Given the description of an element on the screen output the (x, y) to click on. 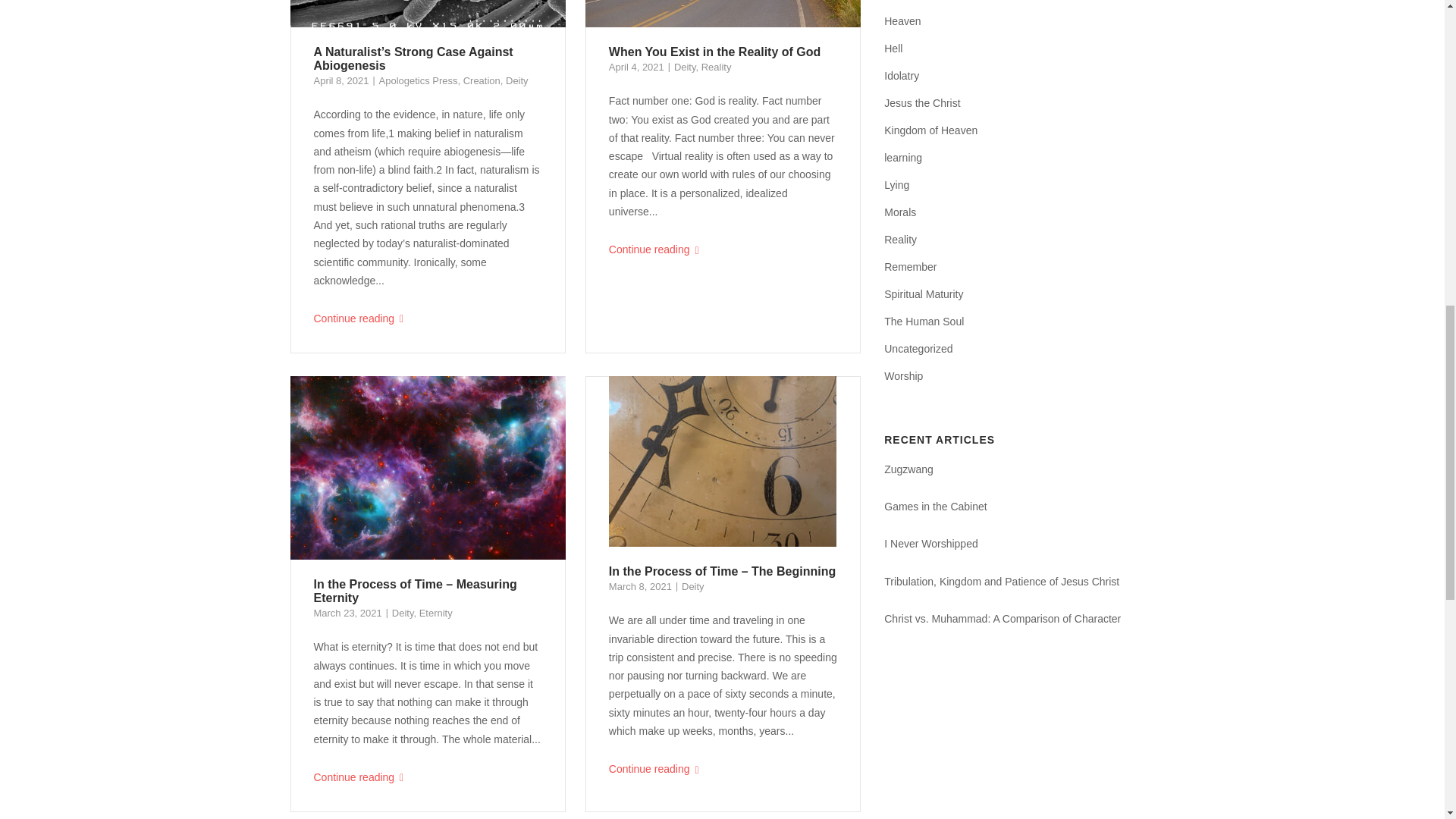
Reality (716, 66)
Creation (481, 80)
Continue reading (722, 249)
Deity (402, 613)
Deity (516, 80)
April 4, 2021 (635, 66)
April 8, 2021 (341, 80)
March 23, 2021 (347, 613)
Eternity (435, 613)
When You Exist in the Reality of God (714, 51)
Deity (684, 66)
Apologetics Press (418, 80)
Continue reading (427, 318)
